Given the description of an element on the screen output the (x, y) to click on. 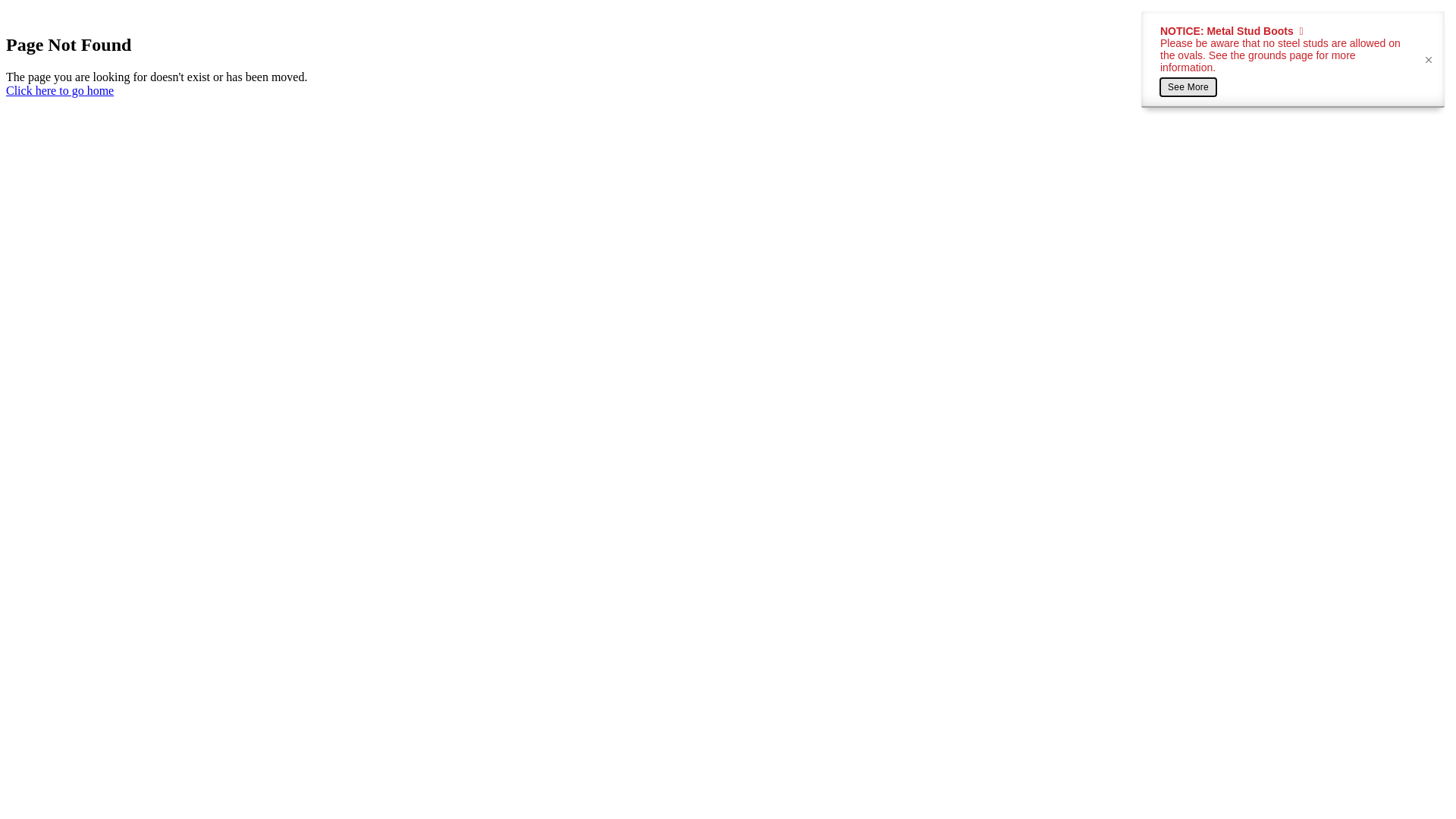
See More Element type: text (1188, 87)
Click here to go home Element type: text (59, 90)
